Given the description of an element on the screen output the (x, y) to click on. 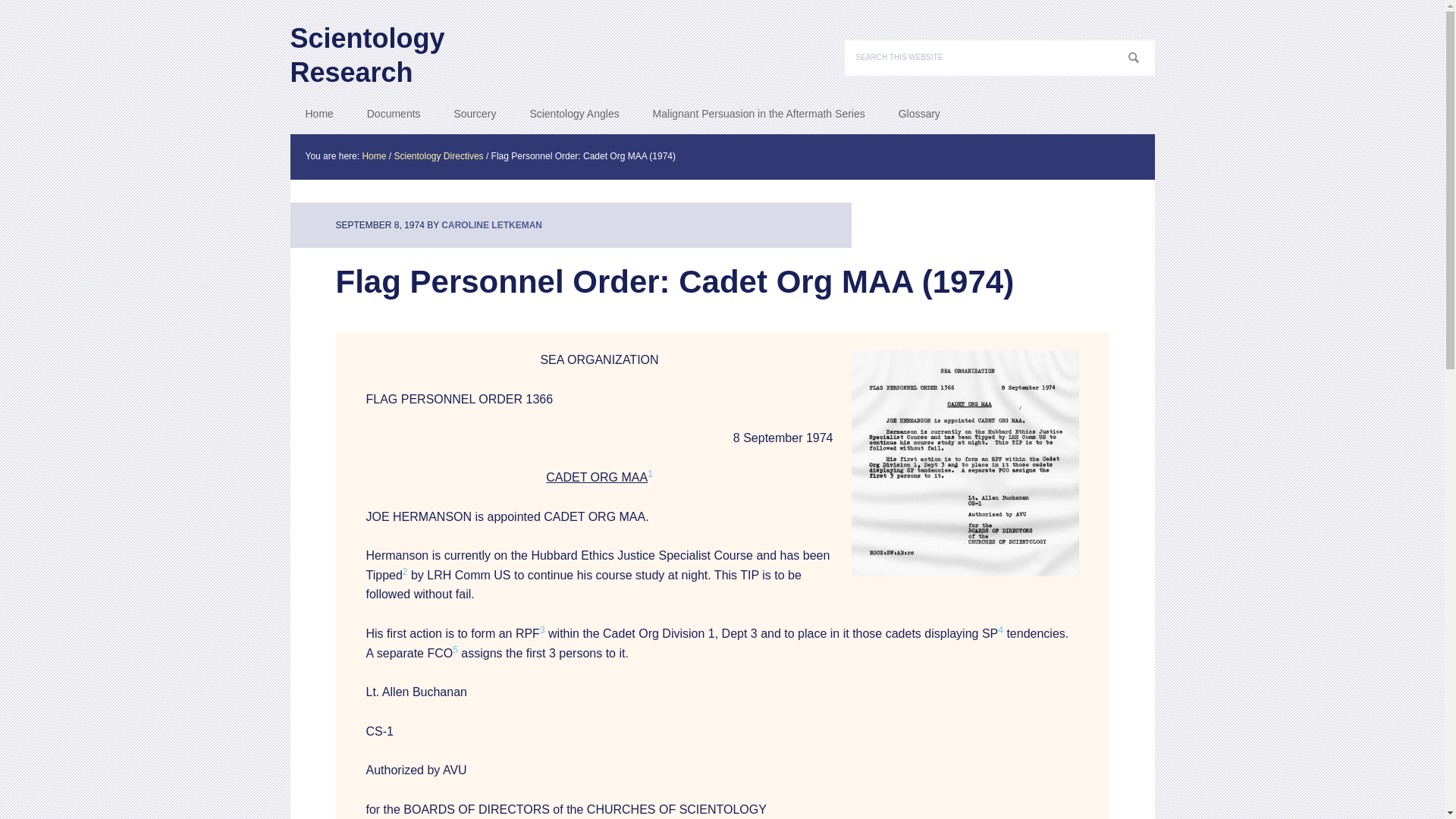
CAROLINE LETKEMAN (491, 225)
Documents (393, 113)
Malignant Persuasion in the Aftermath Series (758, 113)
Scientology Angles (573, 113)
Scientology Research (410, 44)
Home (318, 113)
